Given the description of an element on the screen output the (x, y) to click on. 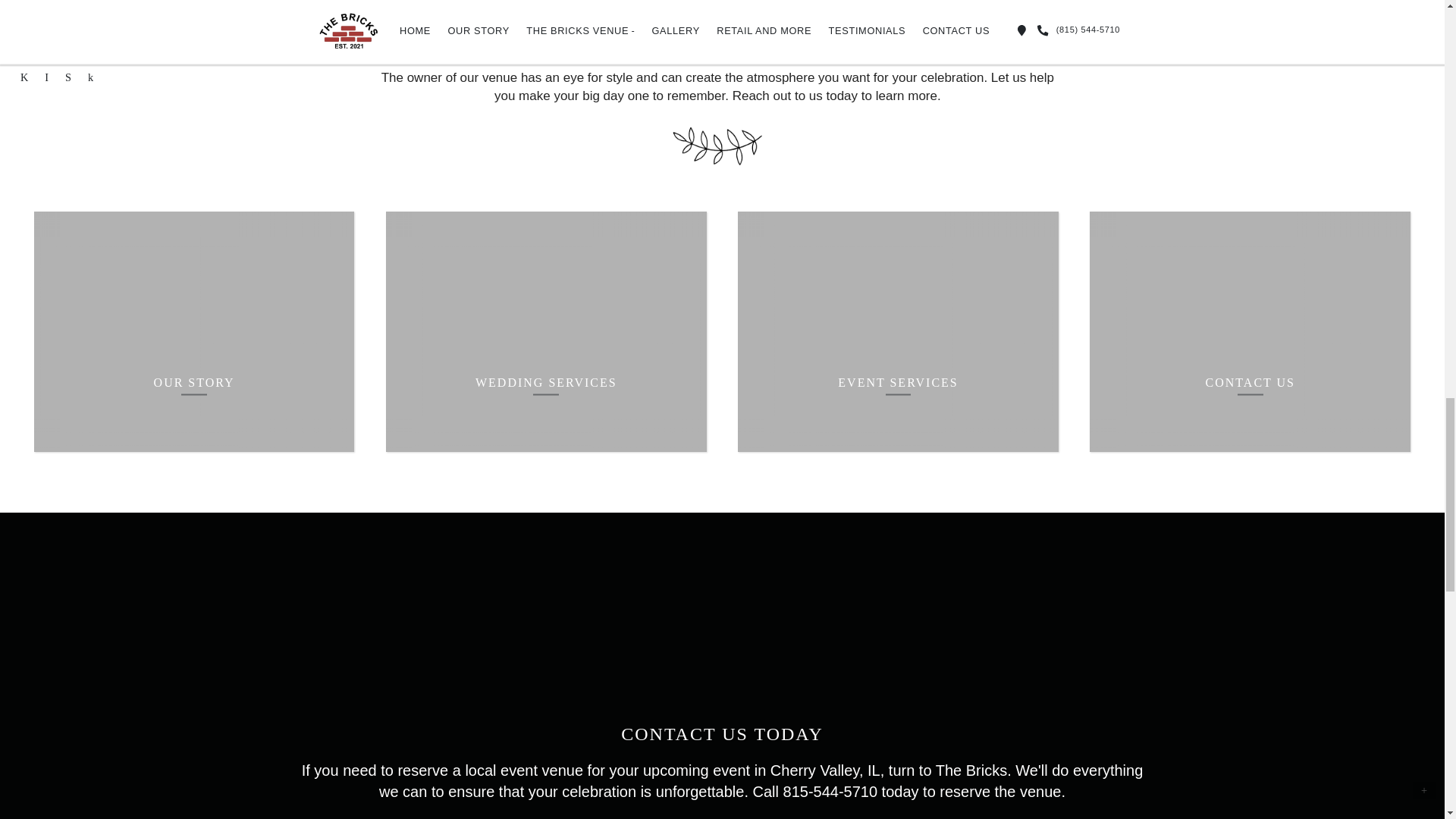
WEDDING SERVICES (545, 331)
EVENT SERVICES (898, 331)
OUR STORY (194, 331)
CONTACT US (1249, 331)
